Given the description of an element on the screen output the (x, y) to click on. 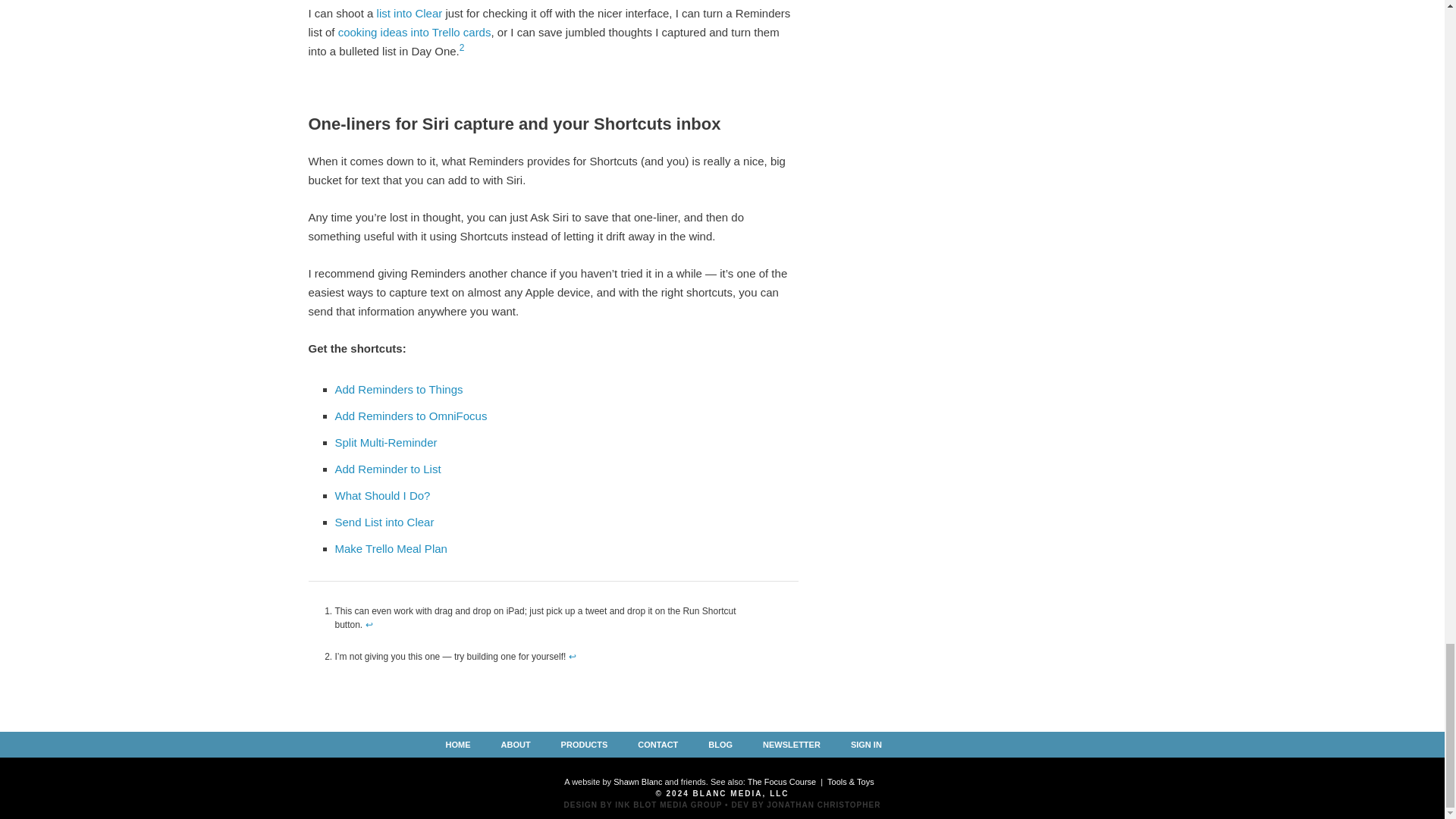
list into Clear (409, 12)
Send List into Clear (383, 521)
Add Reminders to Things (398, 389)
Add Reminders to OmniFocus (410, 415)
Add Reminder to List (387, 468)
Split Multi-Reminder (386, 441)
cooking ideas into Trello cards (414, 31)
Make Trello Meal Plan (390, 548)
What Should I Do? (382, 495)
